Given the description of an element on the screen output the (x, y) to click on. 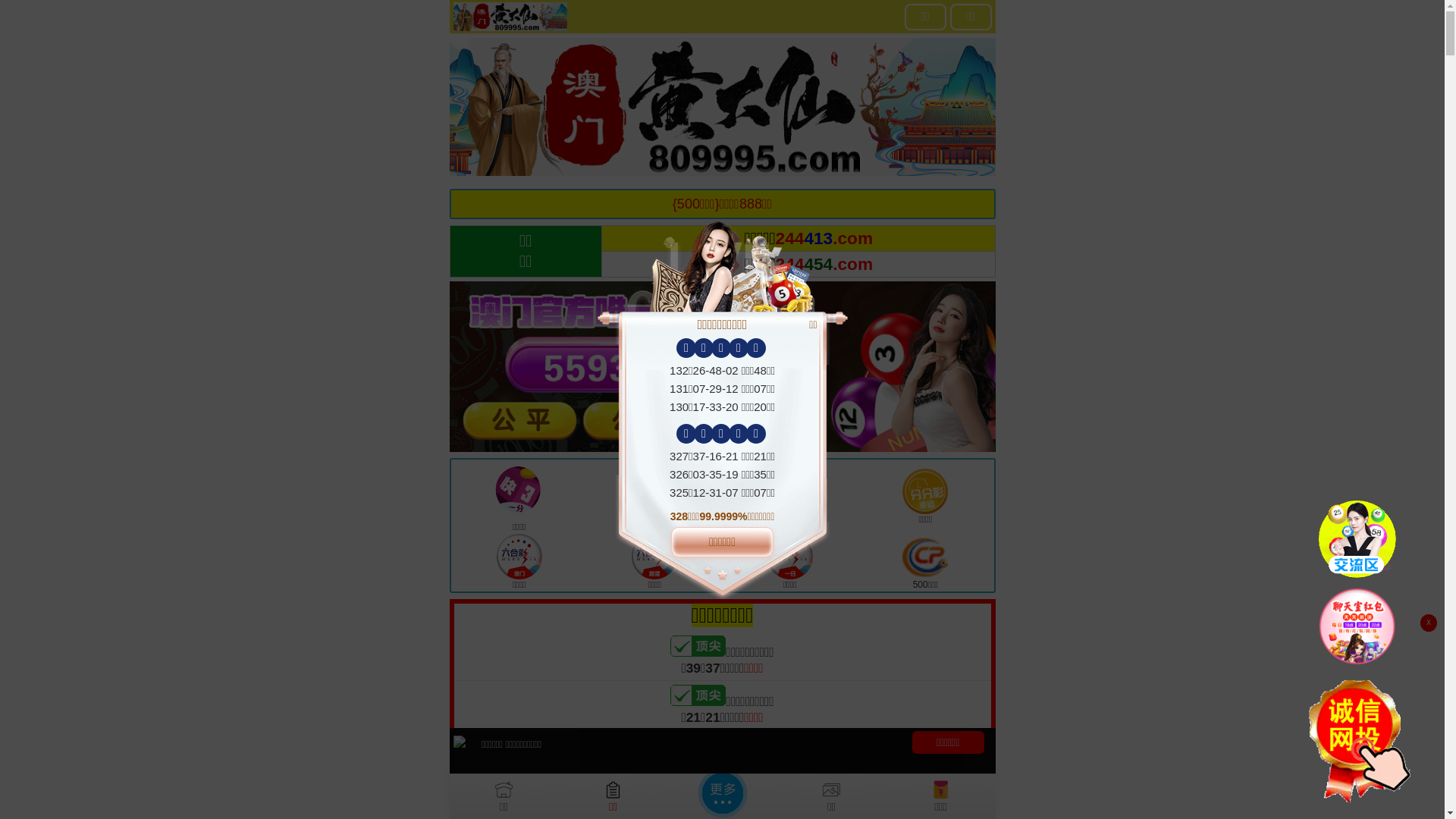
x Element type: text (1428, 622)
